Given the description of an element on the screen output the (x, y) to click on. 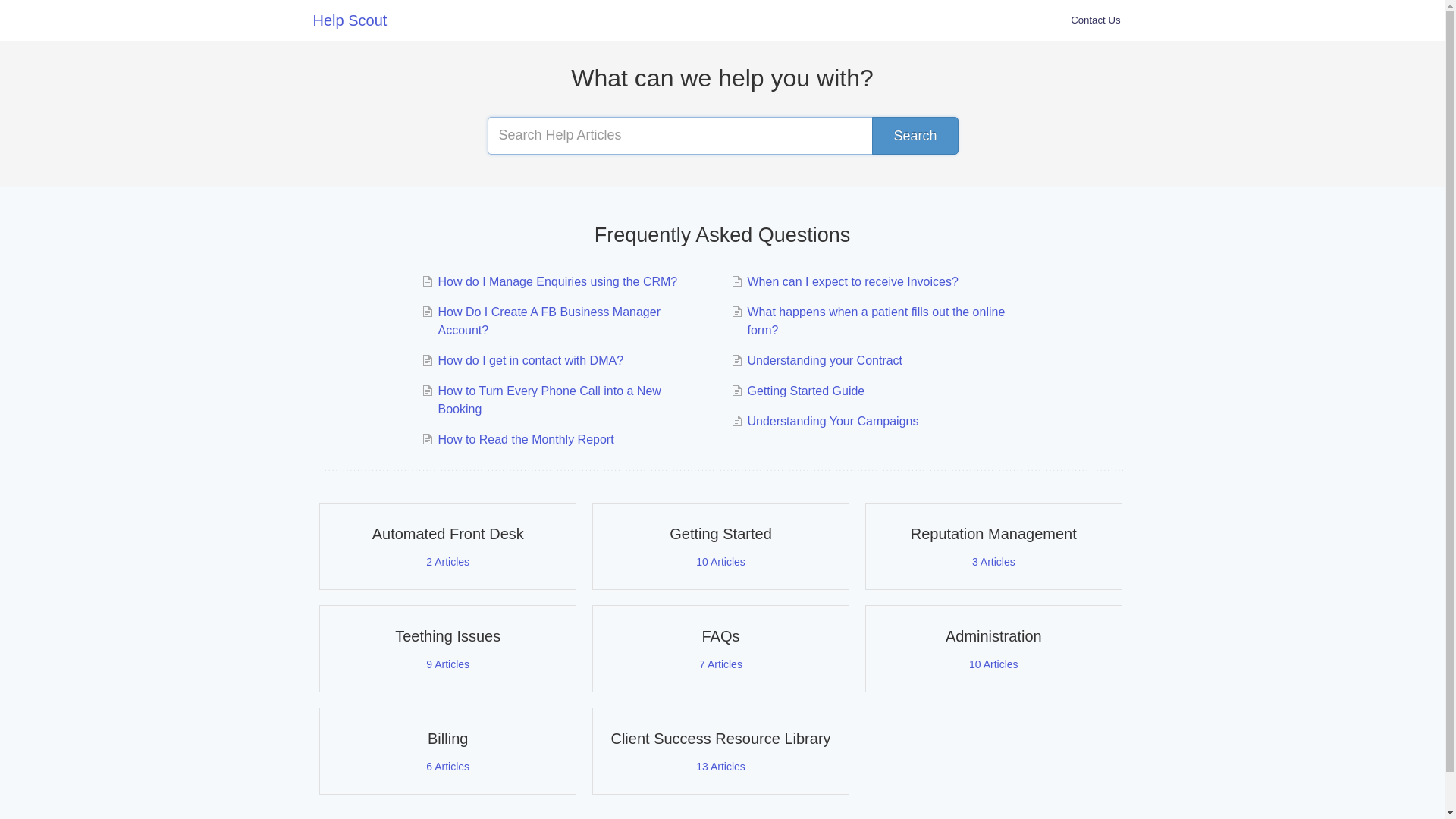
Billing
6 Articles Element type: text (447, 750)
When can I expect to receive Invoices? Element type: text (850, 282)
Client Success Resource Library
13 Articles Element type: text (720, 750)
search-query Element type: hover (721, 135)
Administration
10 Articles Element type: text (993, 648)
How Do I Create A FB Business Manager Account? Element type: text (566, 321)
Help Scout Element type: text (356, 20)
FAQs
7 Articles Element type: text (720, 648)
Reputation Management
3 Articles Element type: text (993, 545)
Search Element type: text (914, 135)
What happens when a patient fills out the online form? Element type: text (876, 321)
Getting Started
10 Articles Element type: text (720, 545)
Understanding your Contract Element type: text (822, 360)
Understanding Your Campaigns Element type: text (830, 421)
Teething Issues
9 Articles Element type: text (447, 648)
How to Turn Every Phone Call into a New Booking Element type: text (566, 400)
Automated Front Desk
2 Articles Element type: text (447, 545)
Contact Us Element type: text (1095, 20)
How to Read the Monthly Report Element type: text (523, 439)
How do I Manage Enquiries using the CRM? Element type: text (555, 282)
Getting Started Guide Element type: text (803, 391)
How do I get in contact with DMA? Element type: text (528, 360)
